Given the description of an element on the screen output the (x, y) to click on. 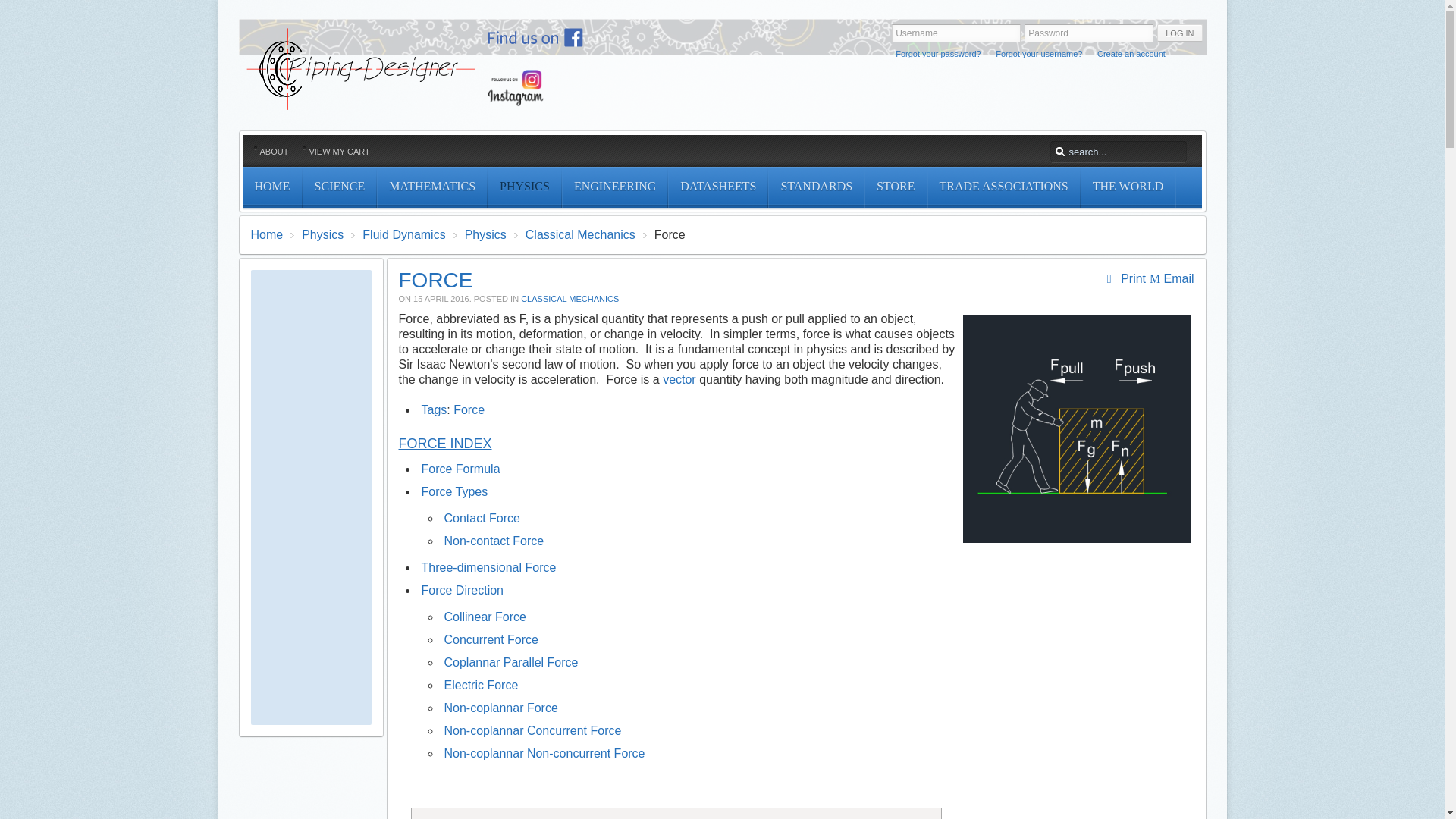
ABOUT (273, 151)
Forgot your username? (1038, 53)
LOG IN (1179, 32)
SCIENCE (339, 186)
Properties (523, 186)
ENGINEERING (614, 186)
Disciplines (614, 186)
HOME (272, 186)
Reset (3, 2)
DATASHEETS (717, 186)
